Given the description of an element on the screen output the (x, y) to click on. 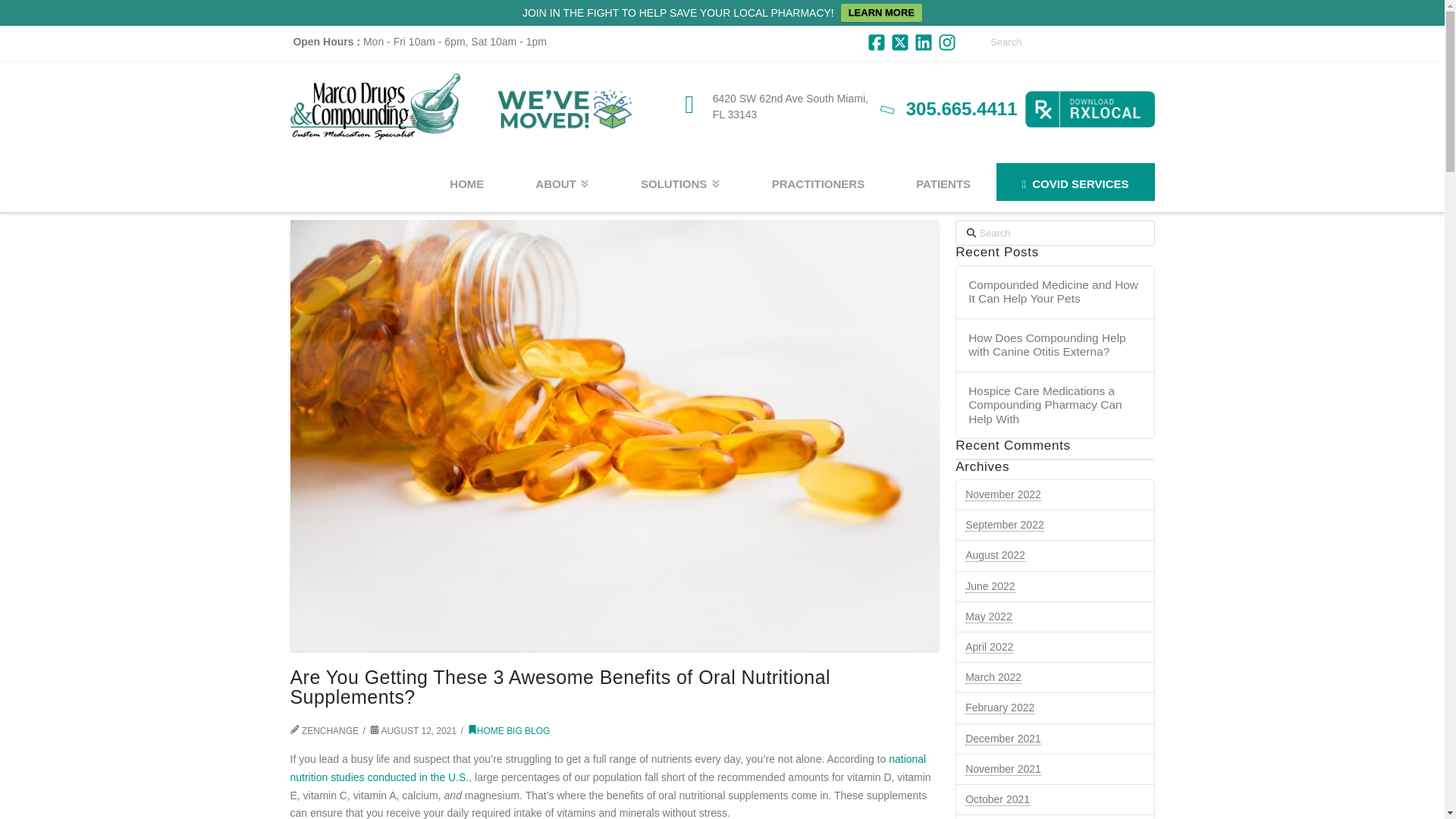
COVID SERVICES (1074, 181)
SOLUTIONS (679, 181)
LEARN MORE (881, 13)
PRACTITIONERS (818, 181)
305.665.4411 (961, 108)
HOME (466, 181)
ABOUT (561, 181)
PATIENTS (942, 181)
